Given the description of an element on the screen output the (x, y) to click on. 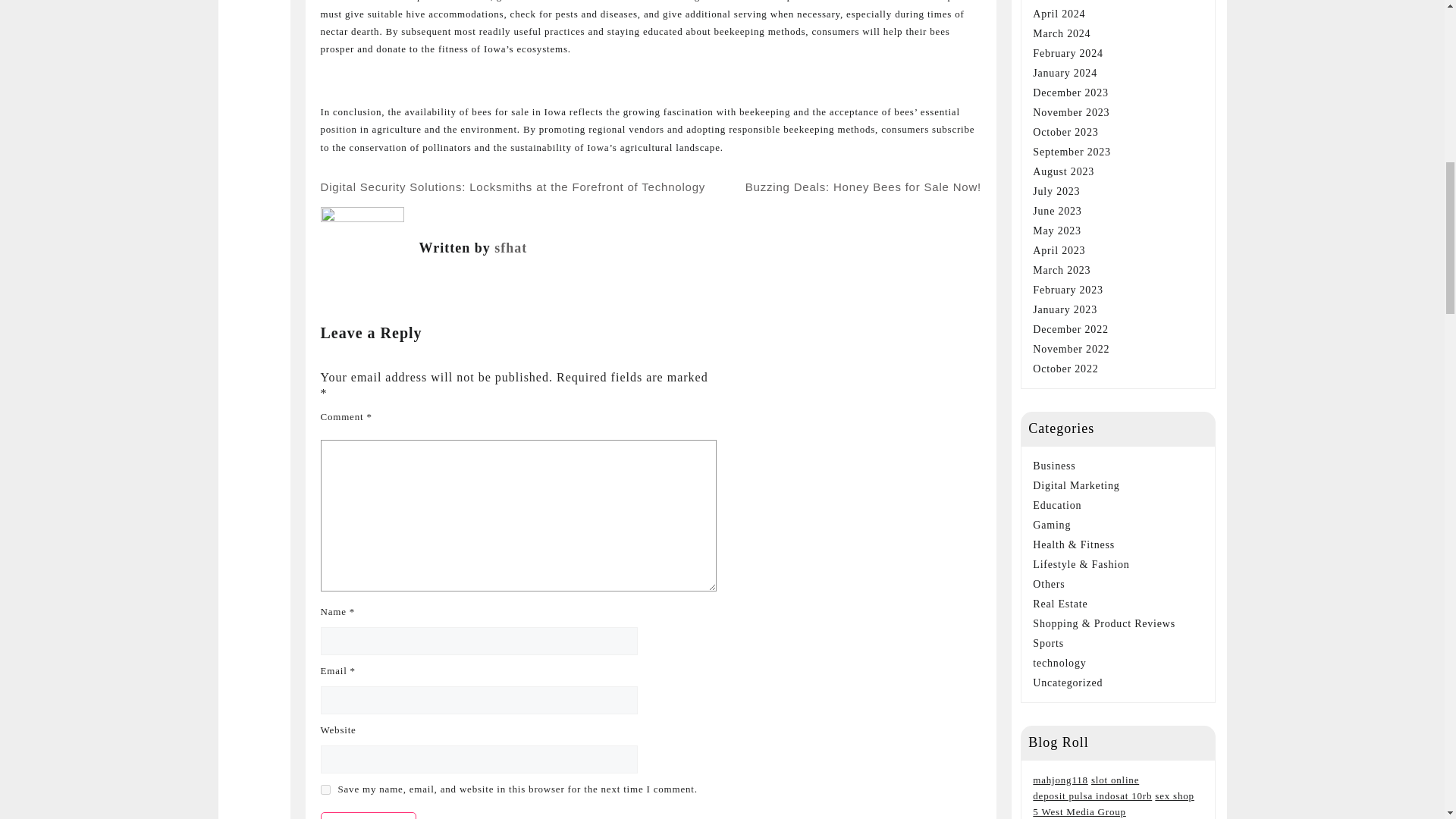
yes (325, 789)
Post Comment (368, 815)
Posts by sfhat (511, 247)
